Given the description of an element on the screen output the (x, y) to click on. 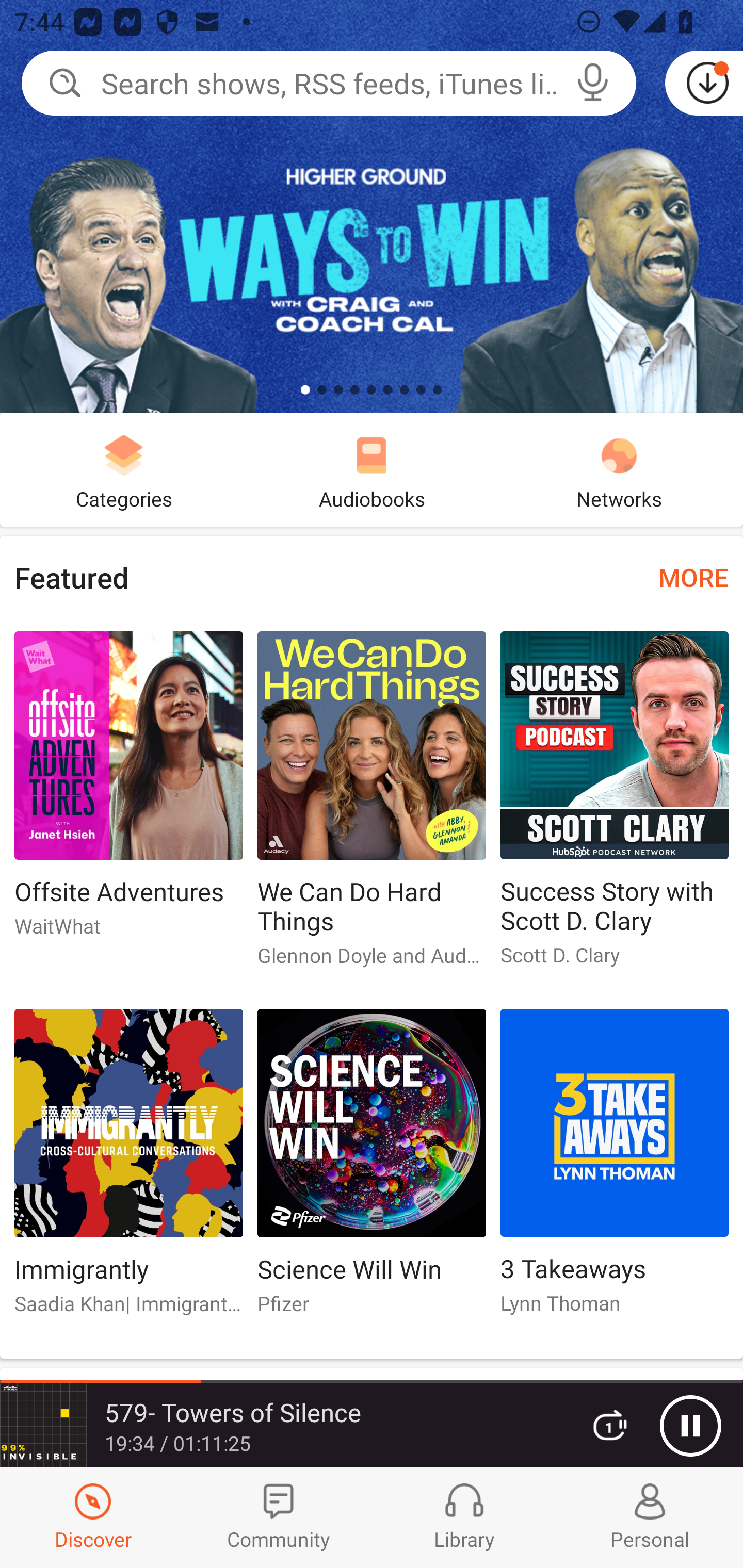
Ways To Win (371, 206)
Categories (123, 469)
Audiobooks (371, 469)
Networks (619, 469)
MORE (693, 576)
Offsite Adventures Offsite Adventures WaitWhat (128, 792)
Science Will Win Science Will Win Pfizer (371, 1169)
3 Takeaways 3 Takeaways Lynn Thoman (614, 1169)
579- Towers of Silence 19:34 / 01:11:25 (283, 1424)
Pause (690, 1425)
Discover (92, 1517)
Community (278, 1517)
Library (464, 1517)
Profiles and Settings Personal (650, 1517)
